Given the description of an element on the screen output the (x, y) to click on. 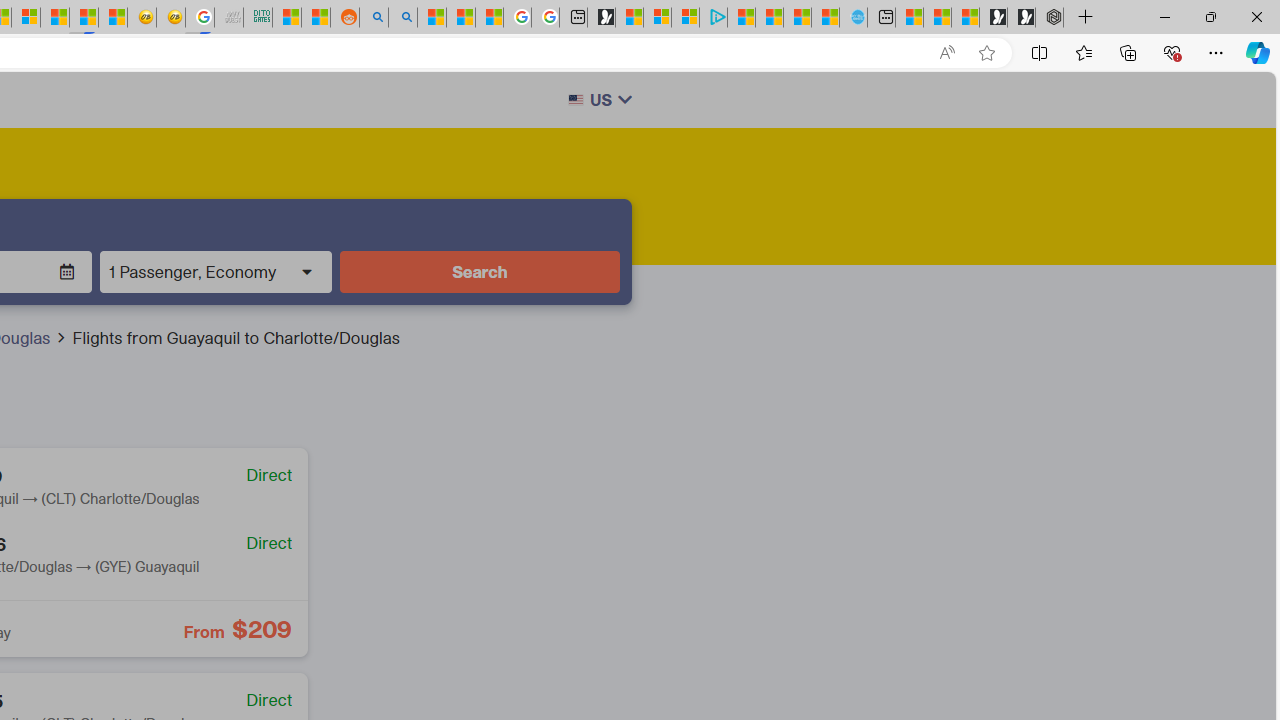
Class: w-full h-auto rounded-sm border border-gray-200 (575, 99)
